Given the description of an element on the screen output the (x, y) to click on. 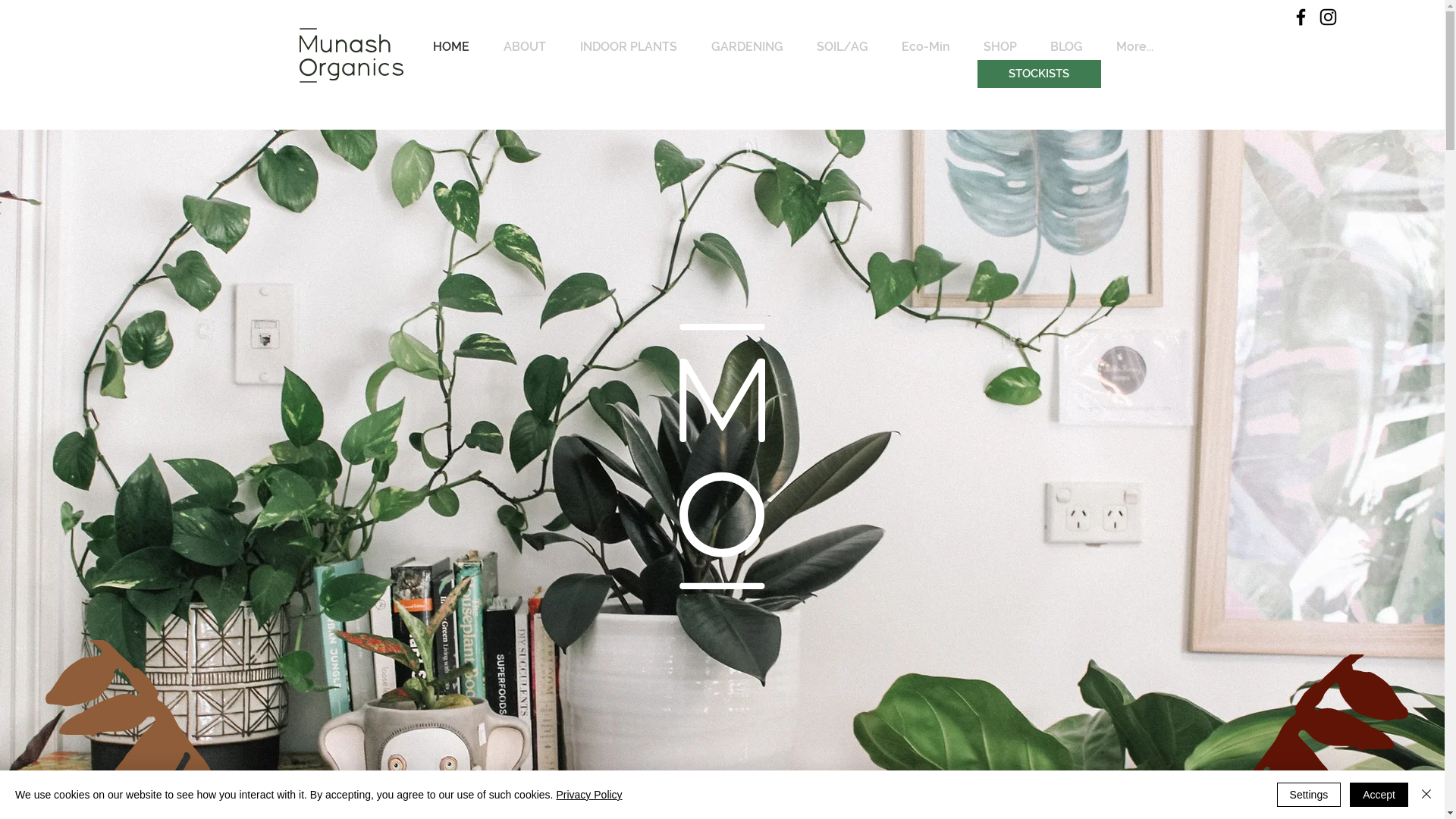
Eco-Min Element type: text (925, 47)
Settings Element type: text (1309, 794)
GARDENING Element type: text (747, 47)
INDOOR PLANTS Element type: text (627, 47)
SHOP Element type: text (999, 47)
BLOG Element type: text (1065, 47)
HOME Element type: text (450, 47)
Accept Element type: text (1378, 794)
Privacy Policy Element type: text (588, 794)
SOIL/AG Element type: text (841, 47)
ABOUT Element type: text (524, 47)
STOCKISTS Element type: text (1038, 73)
